Given the description of an element on the screen output the (x, y) to click on. 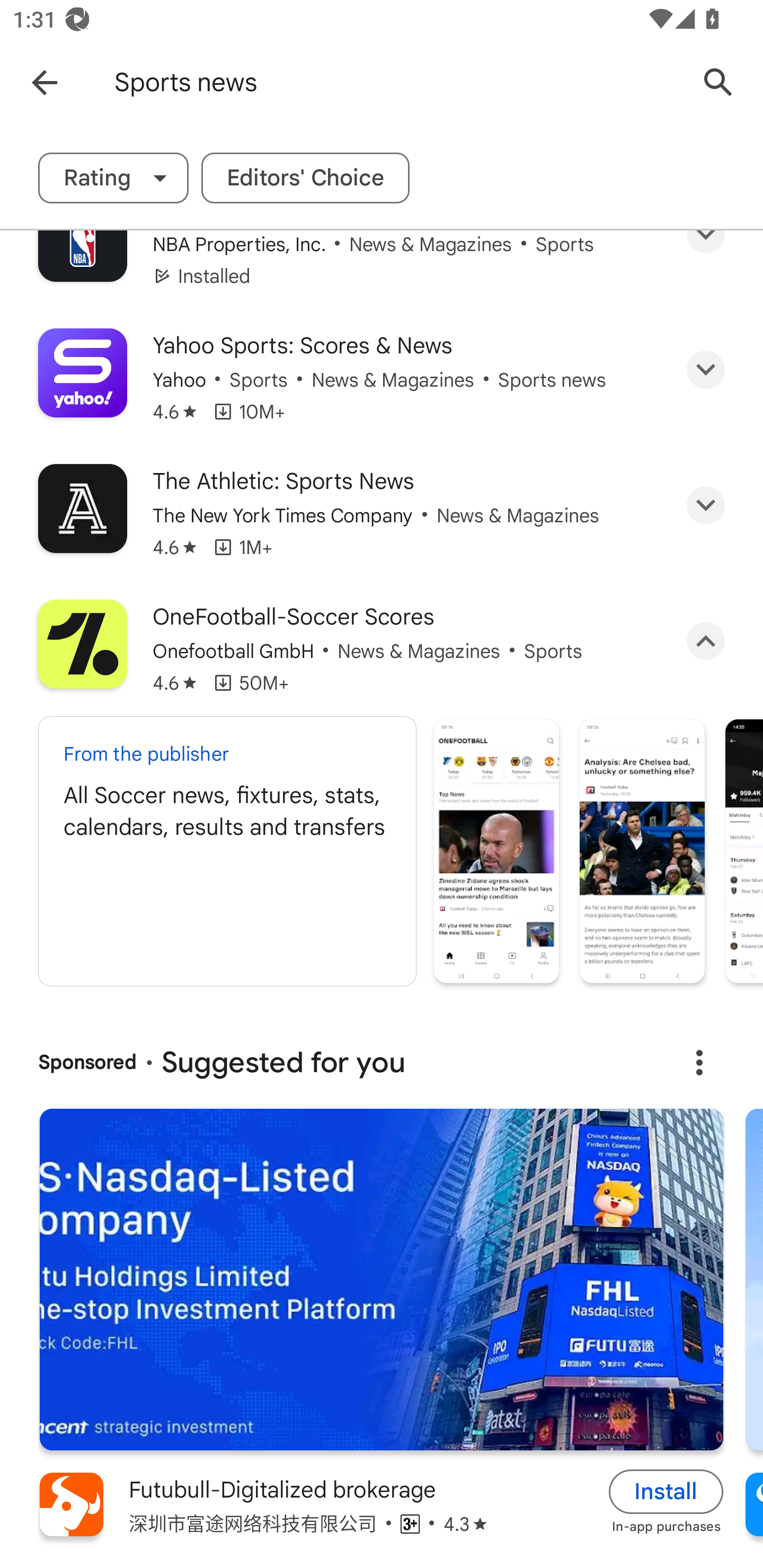
Sports news (397, 82)
Navigate up (44, 81)
Search Google Play (718, 81)
Rating - double tap to change the filter (113, 177)
Editors' Choice - double tap to toggle the filter (305, 177)
Expand content for Yahoo Sports: Scores & News (705, 368)
Expand content for The Athletic: Sports News (705, 505)
Collapse content for OneFootball-Soccer Scores (705, 640)
Screenshot "1" of "8" (496, 851)
Screenshot "2" of "8" (642, 851)
About this ad (699, 1061)
Install (665, 1491)
